Given the description of an element on the screen output the (x, y) to click on. 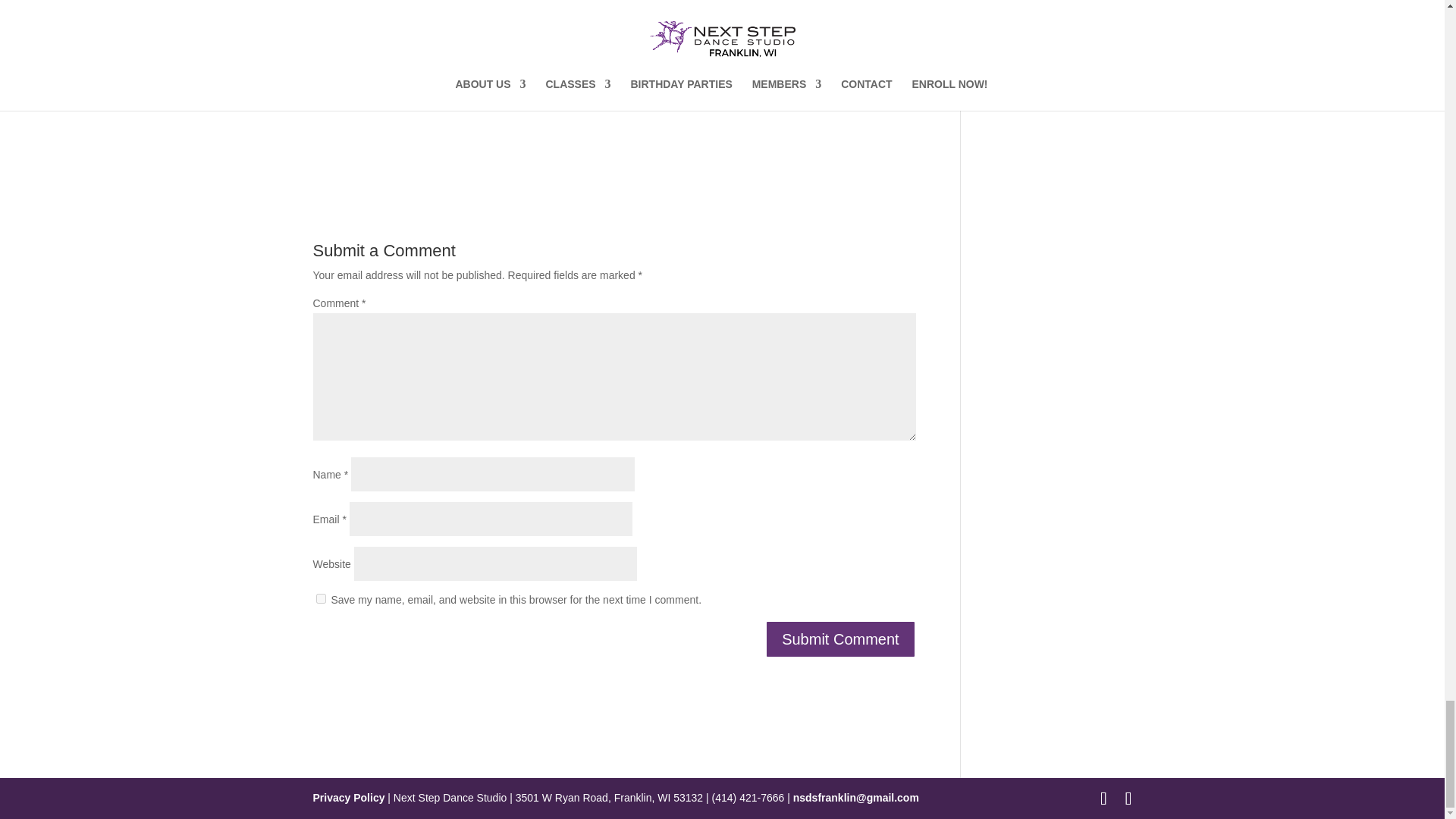
Submit Comment (840, 638)
7e11478d-b0b0-41eb-8ac4-d8297a1454c3 (598, 47)
yes (319, 598)
